Given the description of an element on the screen output the (x, y) to click on. 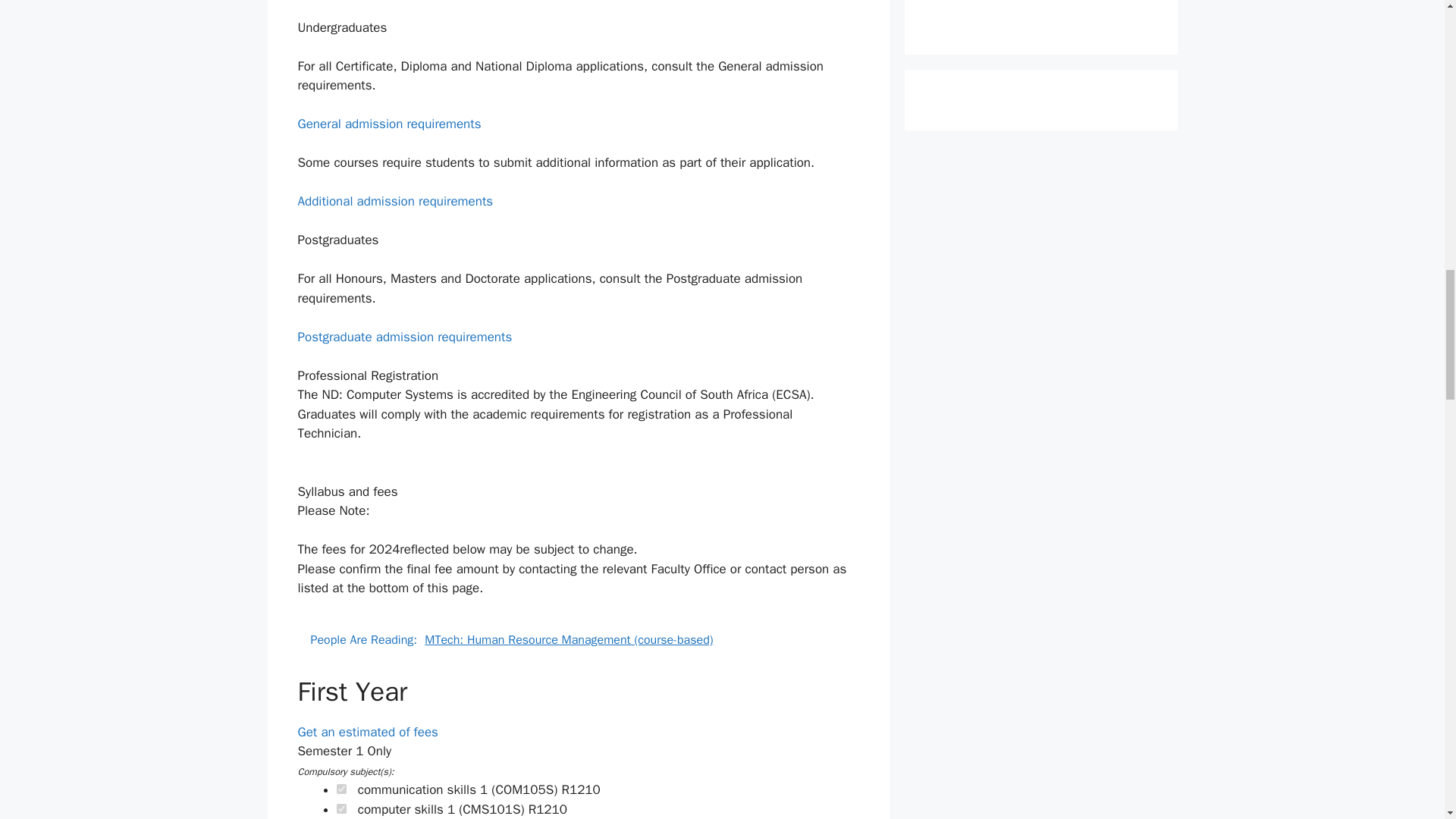
This cost is in South African Rands. (579, 789)
1210 (341, 788)
General admission requirements (388, 123)
Postgraduate admission requirements (404, 336)
Additional admission requirements (395, 201)
1210 (341, 808)
Get an estimated of fees (367, 731)
This cost is in South African Rands. (547, 809)
